Given the description of an element on the screen output the (x, y) to click on. 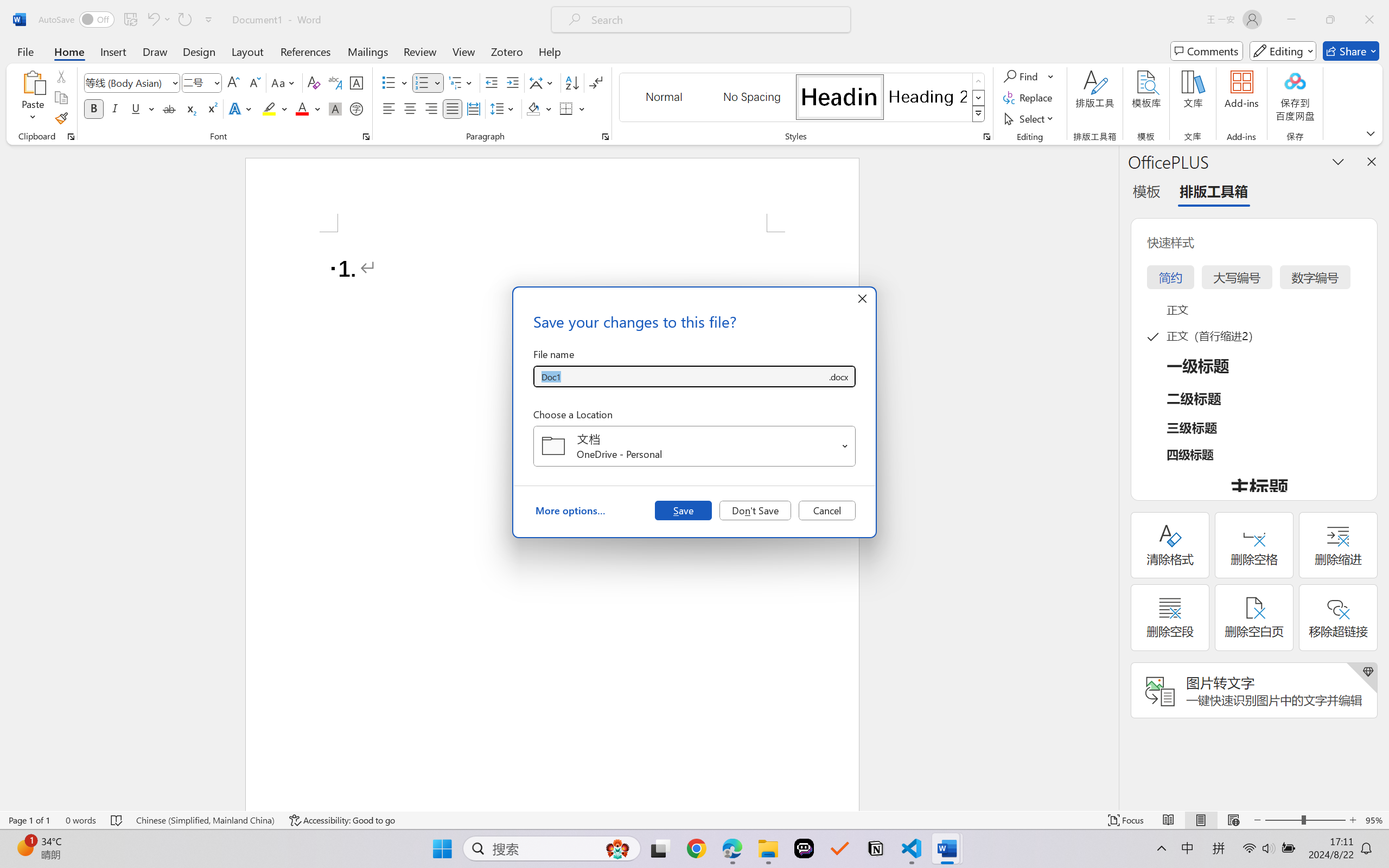
AutomationID: QuickStylesGallery (802, 97)
Microsoft search (715, 19)
